Given the description of an element on the screen output the (x, y) to click on. 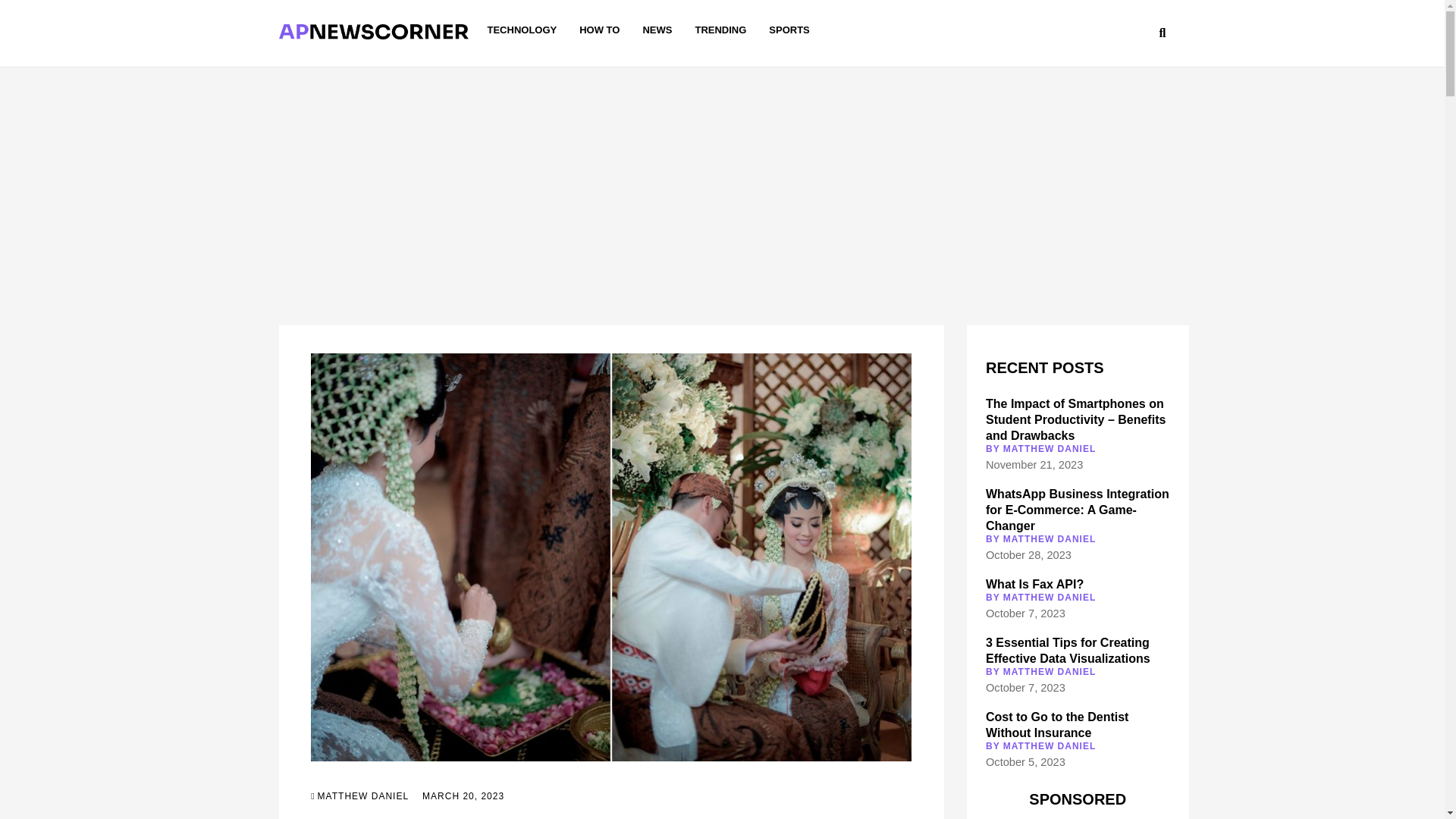
Cost to Go to the Dentist Without Insurance (1056, 724)
Search (1094, 35)
HOW TO (599, 30)
WhatsApp Business Integration for E-Commerce: A Game-Changer (1077, 509)
TRENDING (719, 30)
SPORTS (788, 30)
What Is Fax API? (1034, 584)
TECHNOLOGY (521, 30)
NEWS (656, 30)
3 Essential Tips for Creating Effective Data Visualizations (1067, 650)
